Given the description of an element on the screen output the (x, y) to click on. 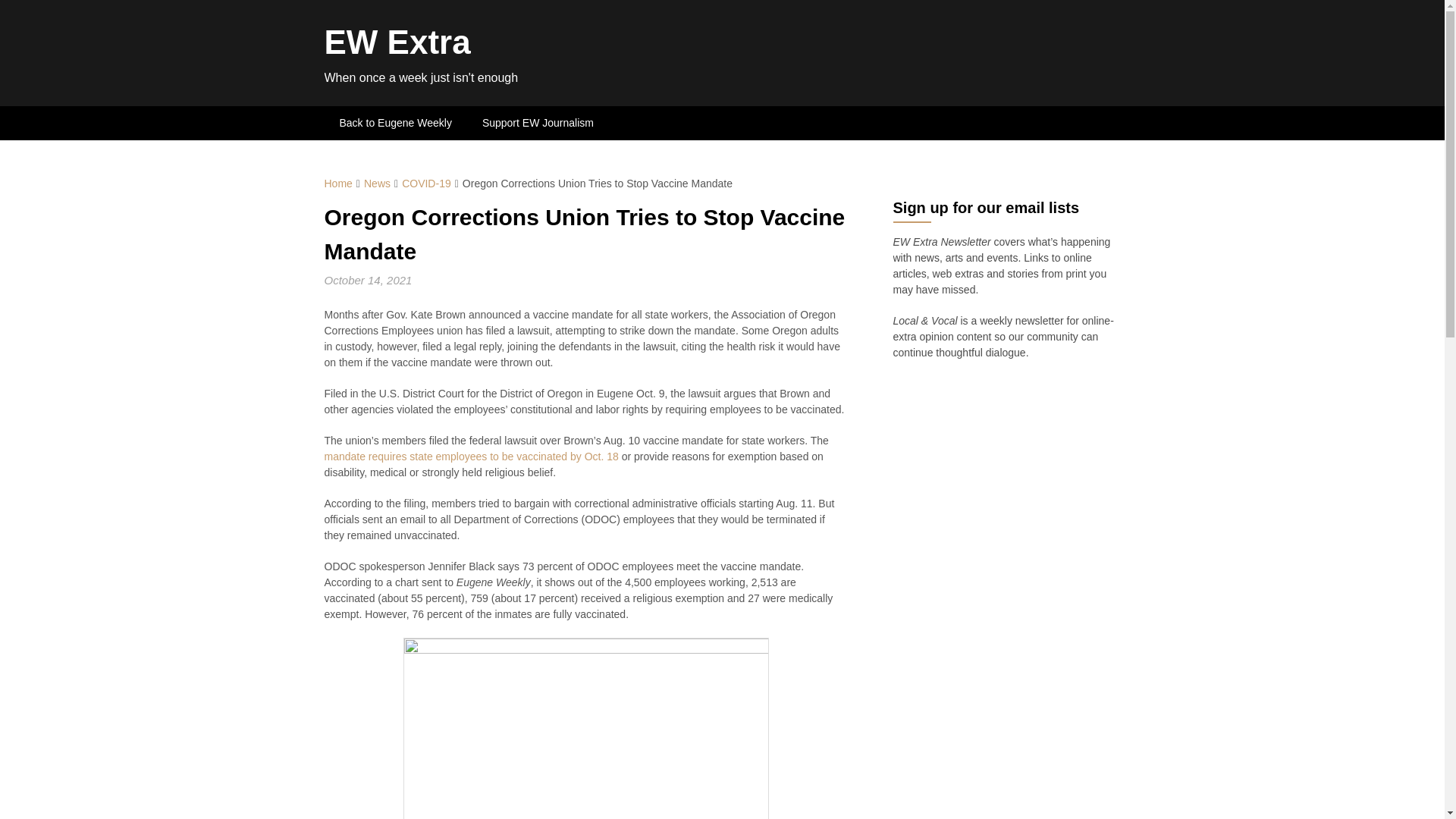
COVID-19 (426, 183)
Support EW Journalism (537, 123)
EW Extra (397, 41)
Back to Eugene Weekly (395, 123)
mandate requires state employees to be vaccinated by Oct. 18 (471, 456)
Home (338, 183)
News (377, 183)
